Given the description of an element on the screen output the (x, y) to click on. 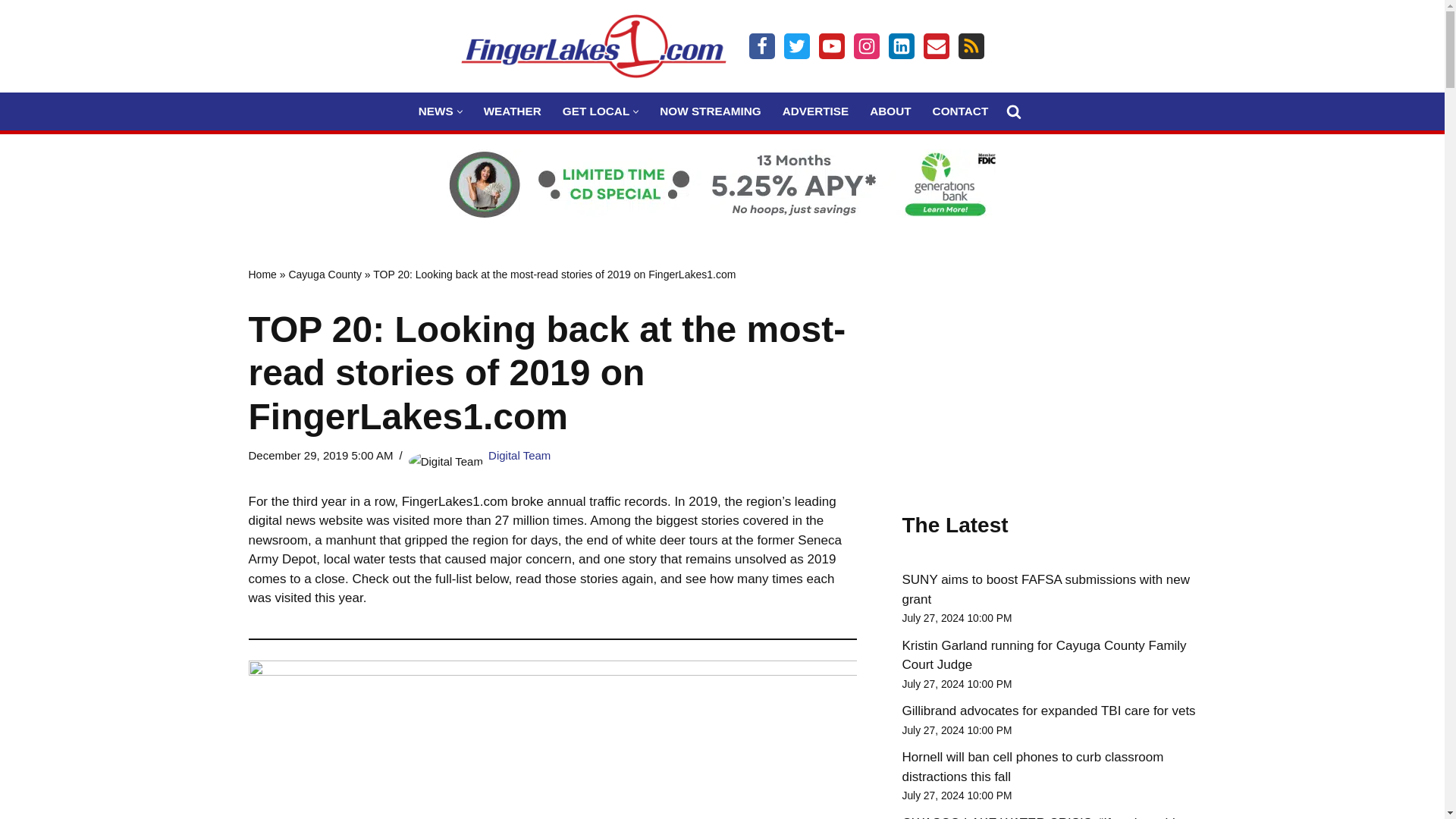
Email Us (936, 45)
NEWS (435, 111)
Facebook (761, 45)
Feed (971, 45)
CONTACT (960, 111)
GET LOCAL (595, 111)
LinkIn (901, 45)
NOW STREAMING (709, 111)
Twitter (796, 45)
Posts by Digital Team (518, 454)
Youtube (831, 45)
ADVERTISE (815, 111)
Instagram (866, 45)
Skip to content (11, 31)
ABOUT (890, 111)
